Given the description of an element on the screen output the (x, y) to click on. 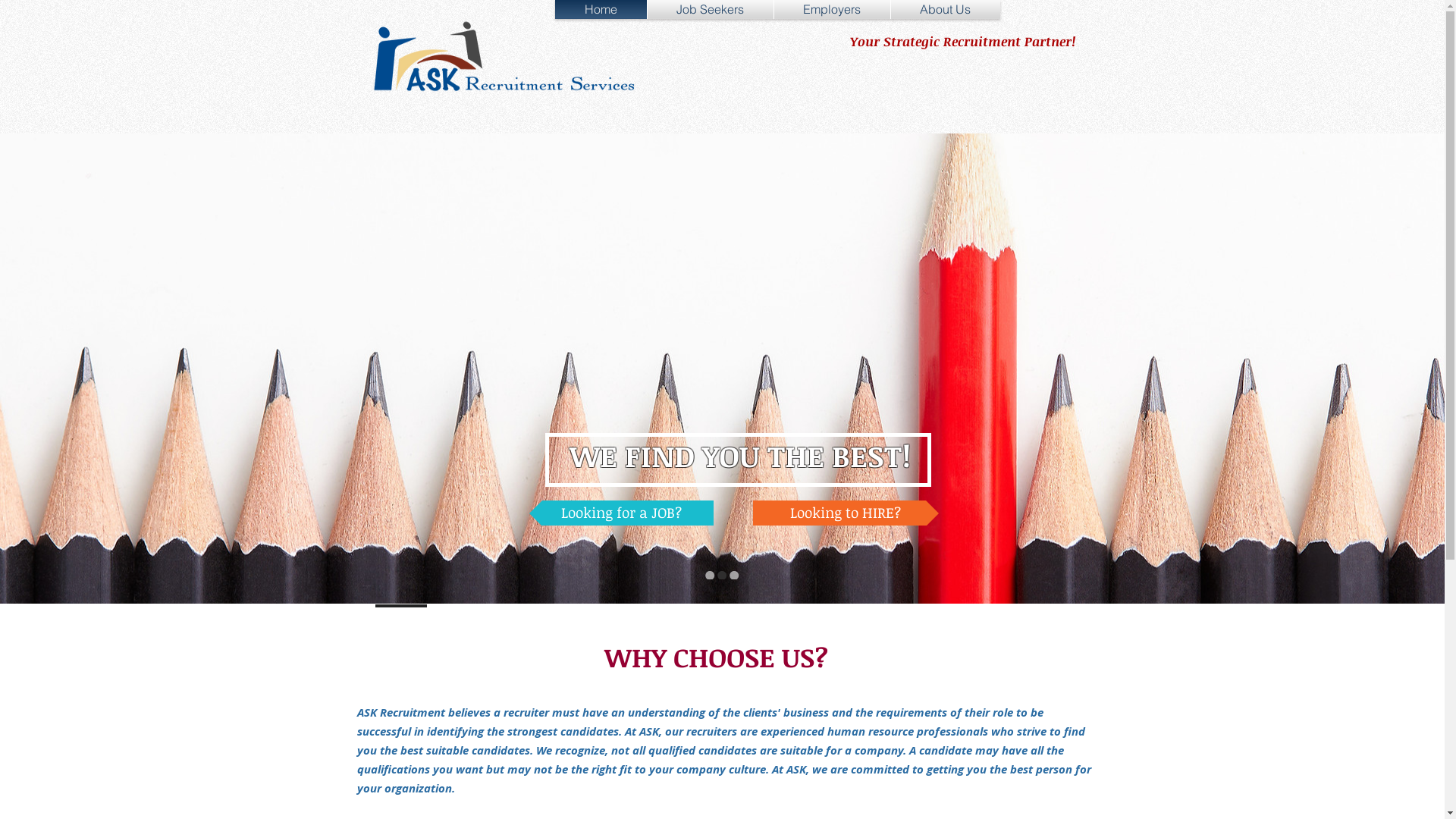
Job Seekers Element type: text (710, 9)
Home Element type: text (600, 9)
Looking for a JOB? Element type: text (621, 512)
Employers Element type: text (831, 9)
About Us Element type: text (944, 9)
Looking to HIRE? Element type: text (845, 512)
